Given the description of an element on the screen output the (x, y) to click on. 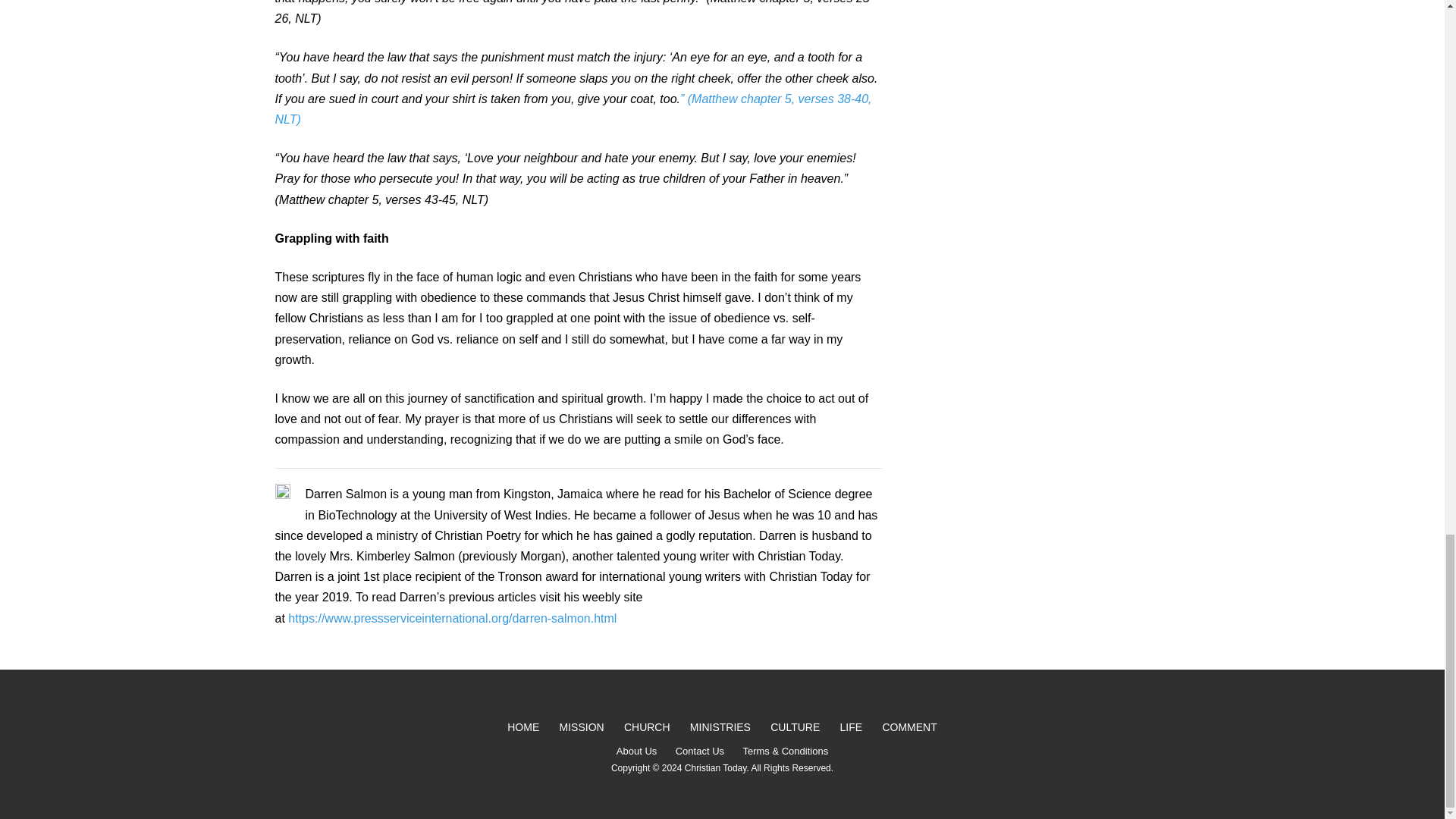
CHURCH (646, 727)
Contact Us (699, 751)
LIFE (850, 727)
About Us (635, 751)
HOME (523, 727)
MINISTRIES (720, 727)
CULTURE (794, 727)
COMMENT (908, 727)
MISSION (581, 727)
